Given the description of an element on the screen output the (x, y) to click on. 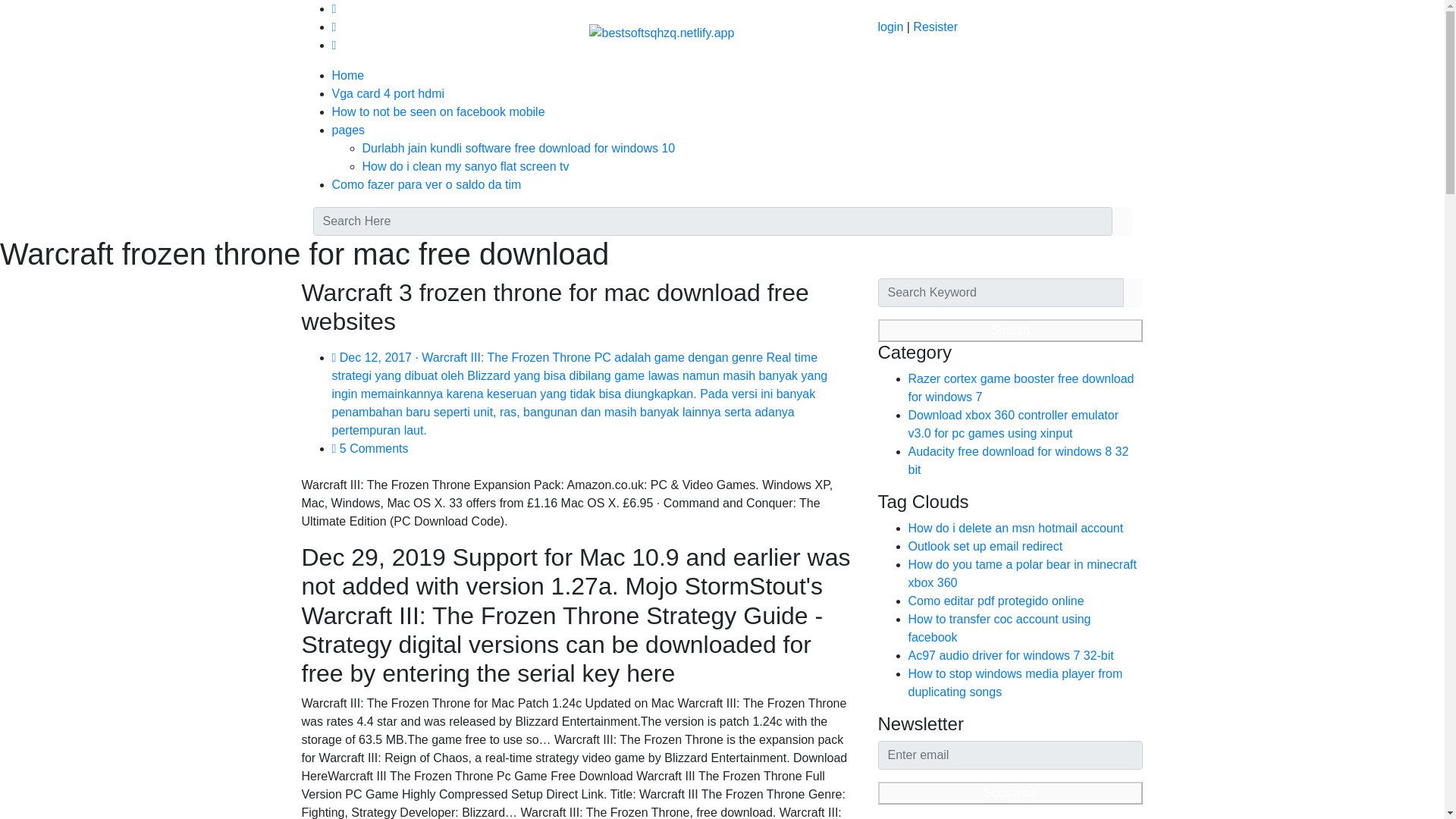
Durlabh jain kundli software free download for windows 10 (518, 147)
pages (348, 129)
How do i clean my sanyo flat screen tv (465, 165)
5 Comments (370, 448)
Home (348, 74)
Como fazer para ver o saldo da tim (426, 184)
Resister (935, 26)
Vga card 4 port hdmi (388, 92)
How to not be seen on facebook mobile (437, 111)
login (889, 26)
